Given the description of an element on the screen output the (x, y) to click on. 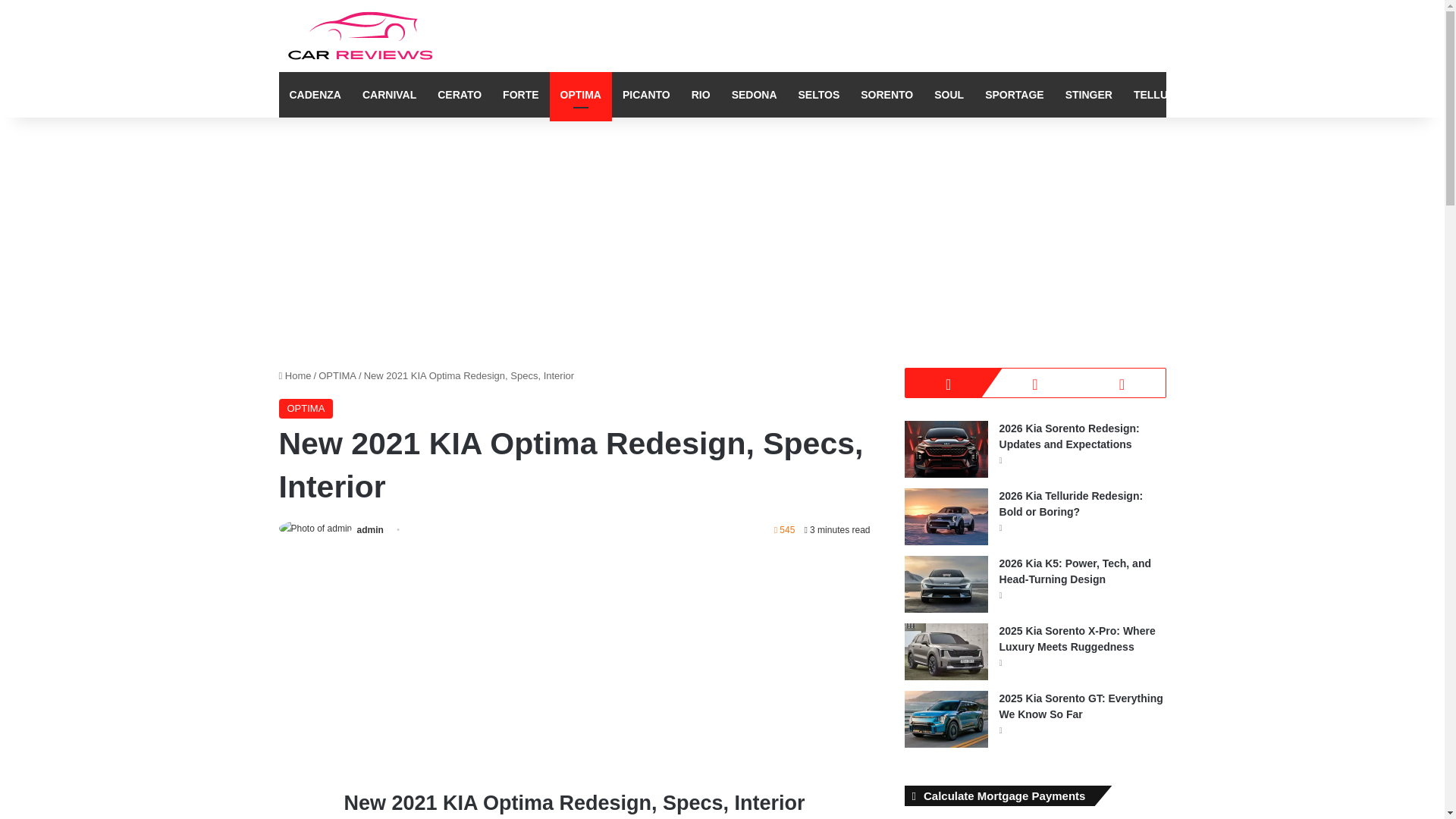
SEDONA (753, 94)
FORTE (520, 94)
admin (370, 529)
SOUL (948, 94)
SELTOS (818, 94)
CERATO (459, 94)
CADENZA (315, 94)
Home (295, 375)
TELLURIDE (1163, 94)
STINGER (1088, 94)
SPORTAGE (1014, 94)
OPTIMA (306, 408)
Advertisement (574, 660)
CARNIVAL (389, 94)
SORENTO (886, 94)
